Given the description of an element on the screen output the (x, y) to click on. 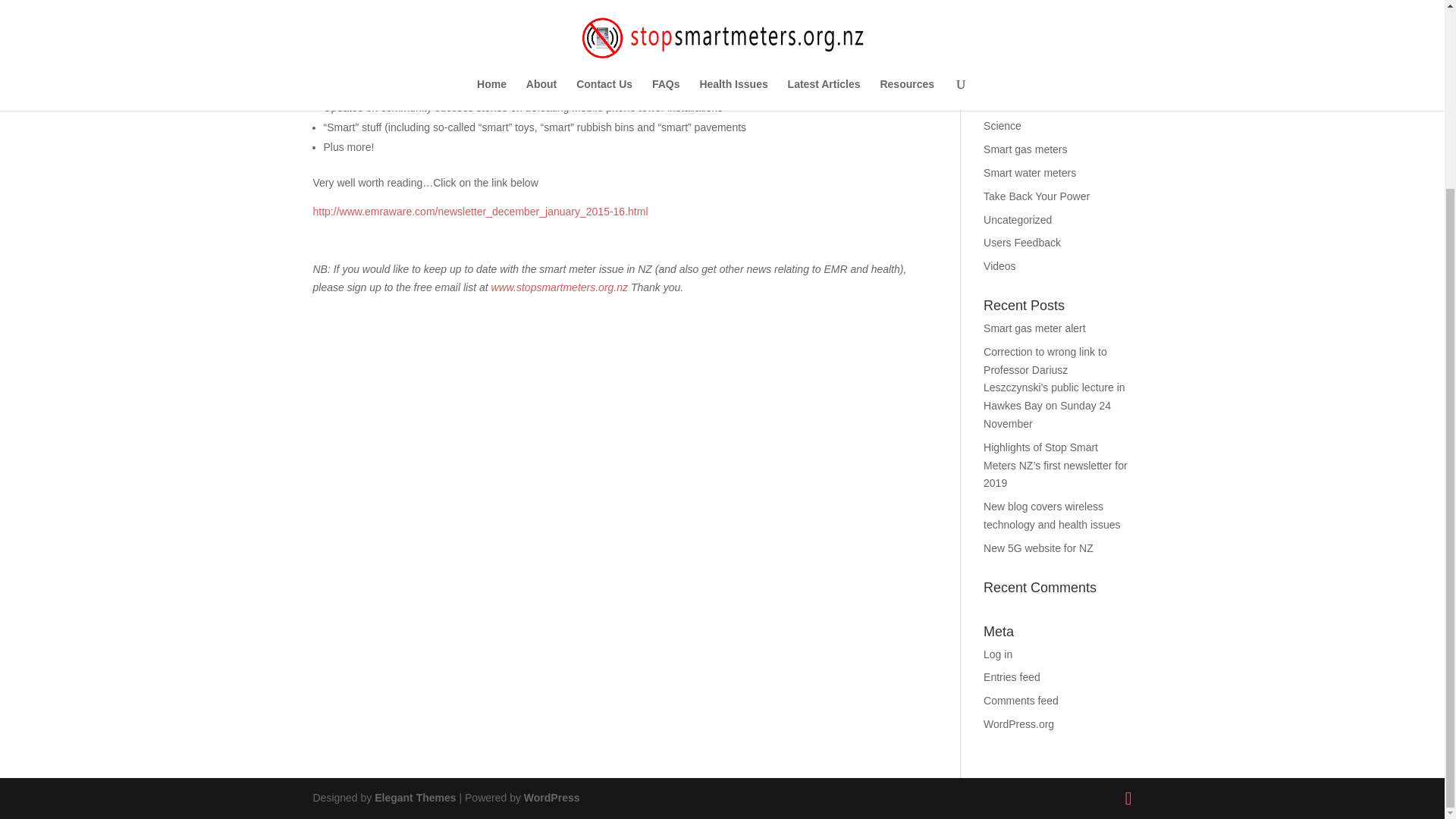
Uncategorized (1017, 219)
Premium WordPress Themes (414, 797)
Take Back Your Power (1036, 196)
www.stopsmartmeters.org.nz (560, 287)
Science (1003, 125)
Government and Electricity Industry Positions (1047, 10)
Privacy (1000, 102)
Information in Other Languages (1030, 46)
Smart gas meters (1025, 149)
Latest News (1013, 79)
